Given the description of an element on the screen output the (x, y) to click on. 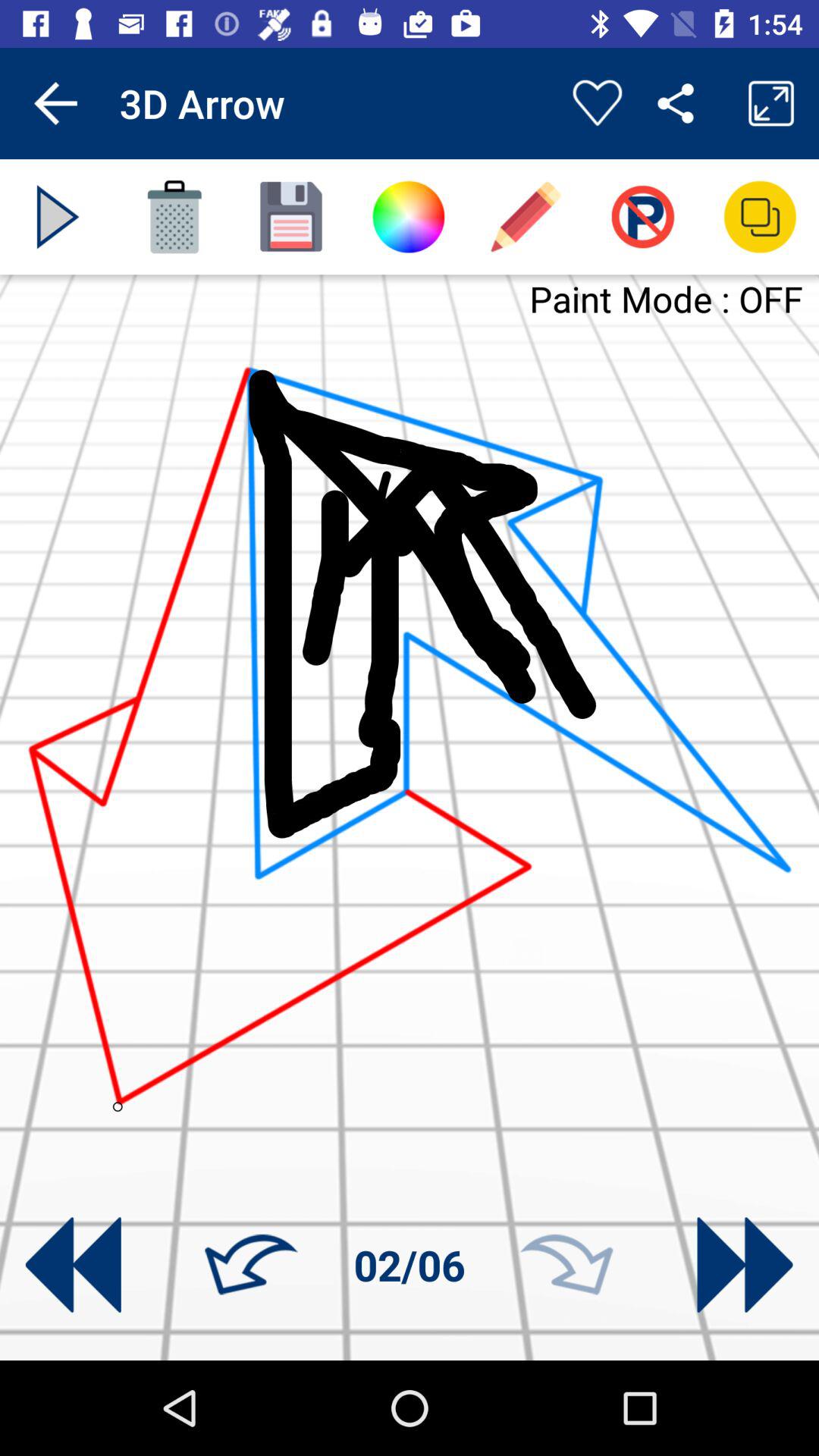
turn paint mode off (642, 216)
